Given the description of an element on the screen output the (x, y) to click on. 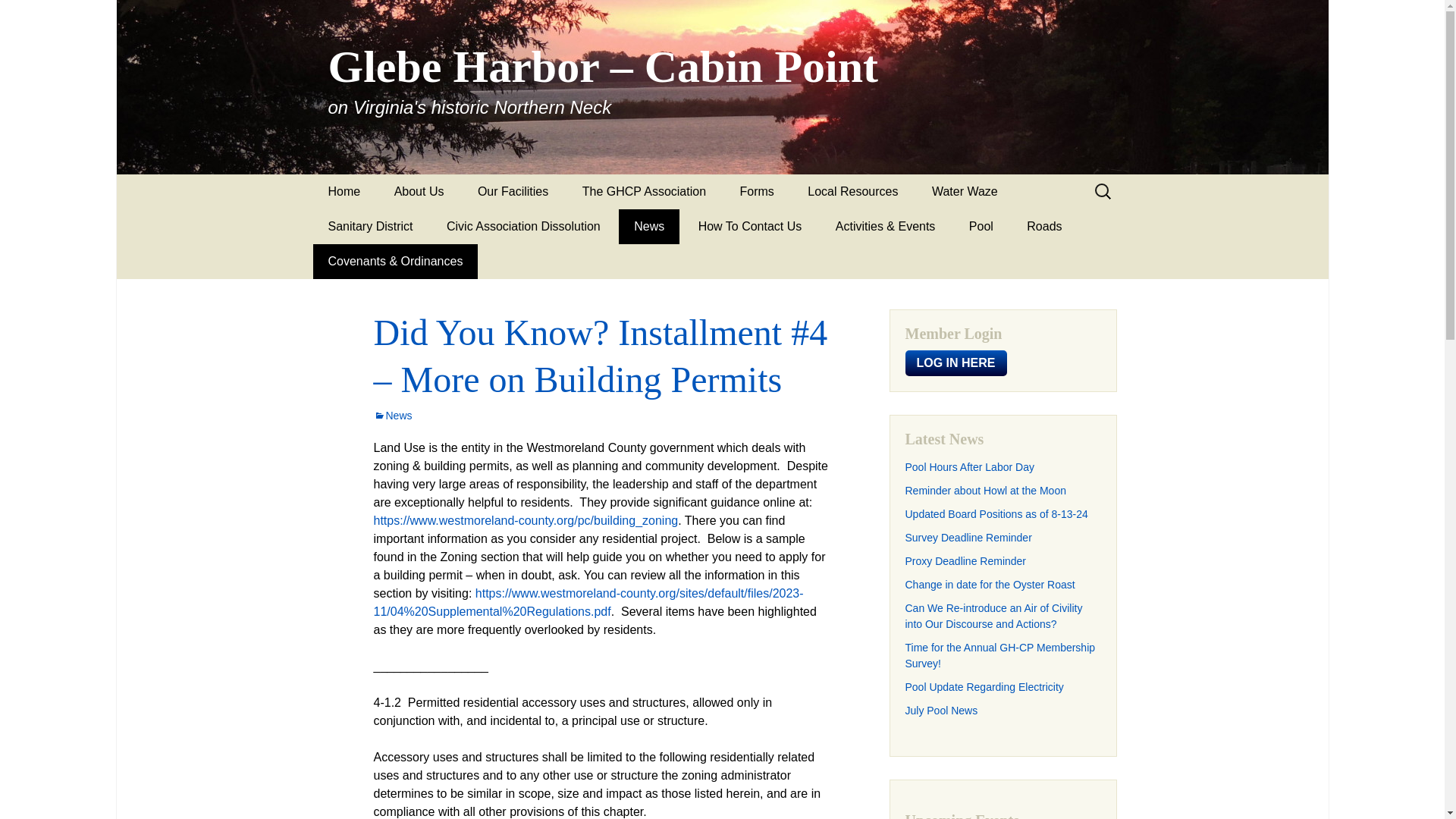
Local Resources (852, 191)
The Beaches (536, 226)
Home (344, 191)
Sanitary District Rules (387, 261)
Sanitary District (370, 226)
Water Waze (965, 191)
Forms (757, 191)
About Us (419, 191)
The GHCP Association (643, 191)
